Given the description of an element on the screen output the (x, y) to click on. 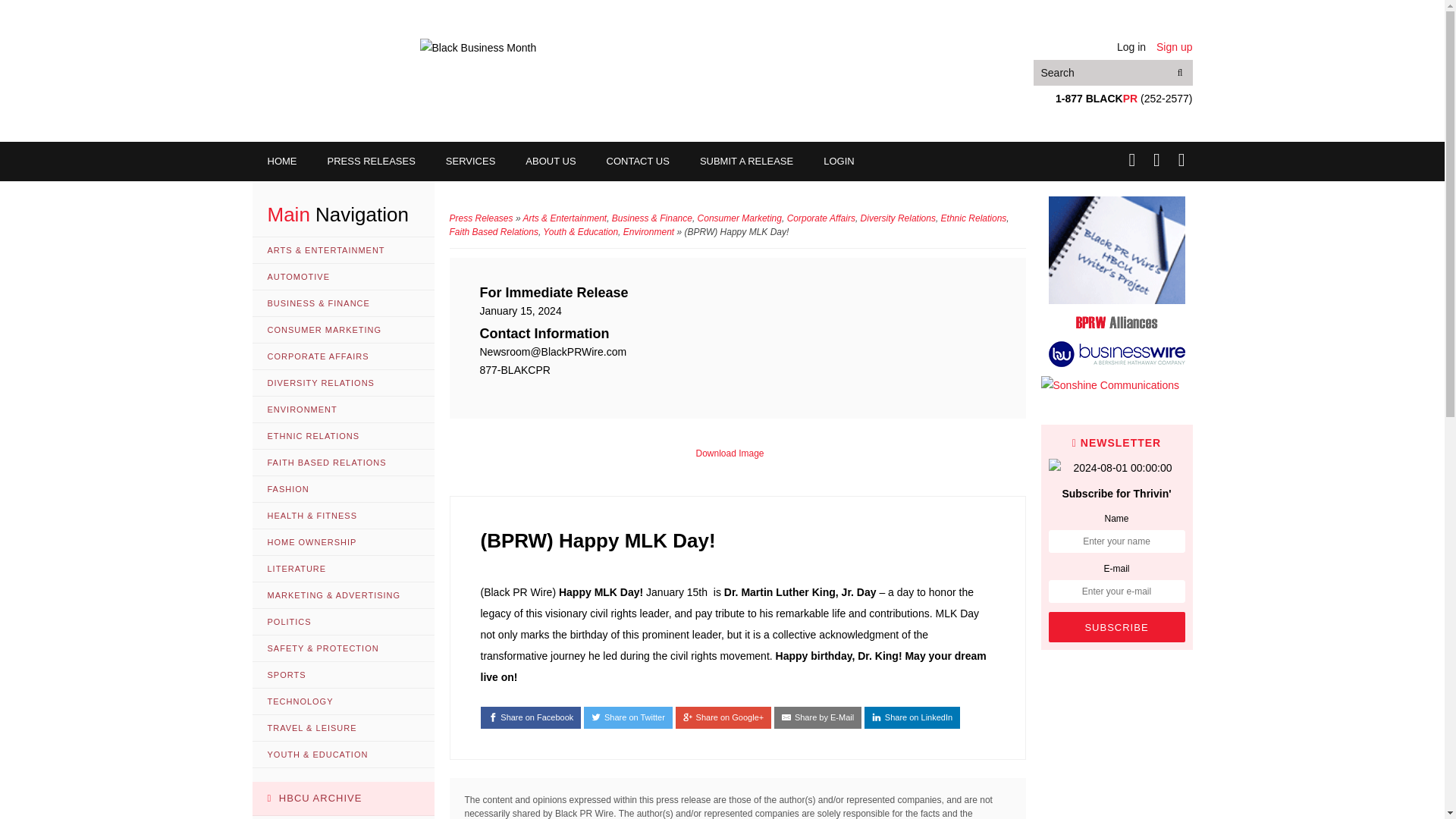
ABOUT US (551, 160)
Log in (1130, 46)
Sign up (1174, 46)
LITERATURE (342, 569)
PRESS RELEASES (371, 160)
HOME (281, 160)
HOME OWNERSHIP (342, 542)
CONTACT US (637, 160)
POLITICS (342, 622)
ETHNIC RELATIONS (342, 436)
